Given the description of an element on the screen output the (x, y) to click on. 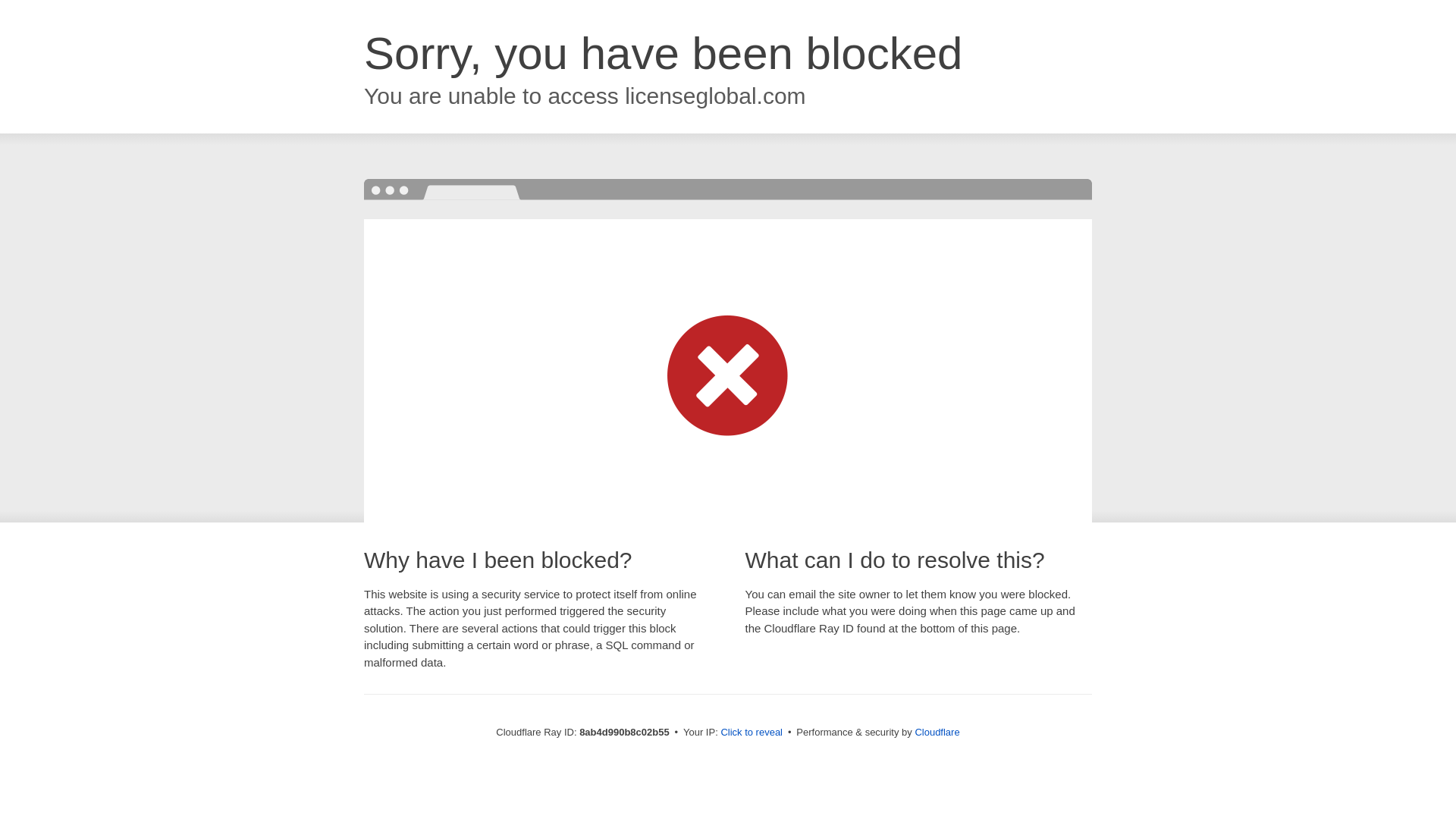
Click to reveal (751, 732)
Cloudflare (936, 731)
